Given the description of an element on the screen output the (x, y) to click on. 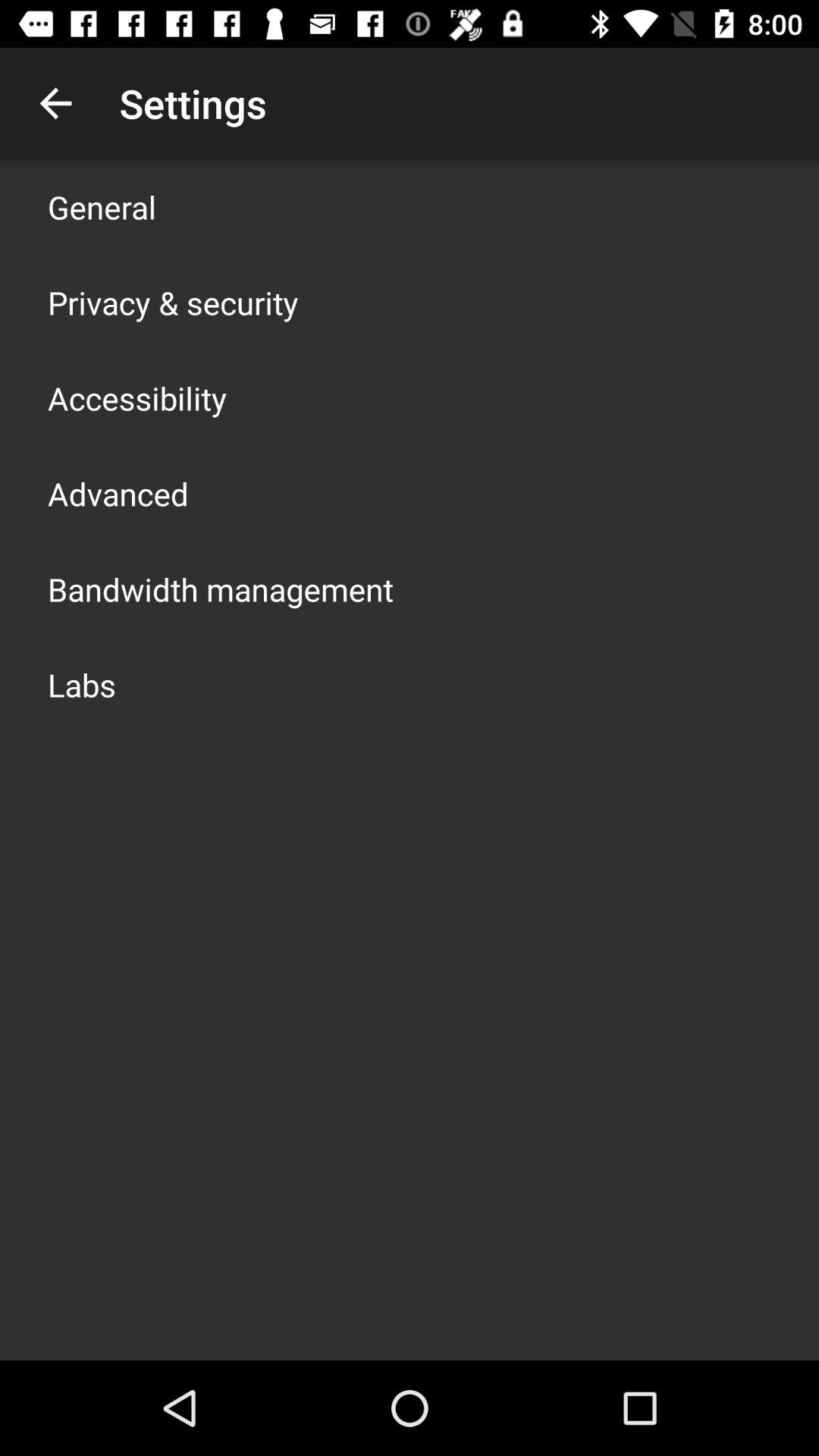
click the labs app (81, 684)
